Given the description of an element on the screen output the (x, y) to click on. 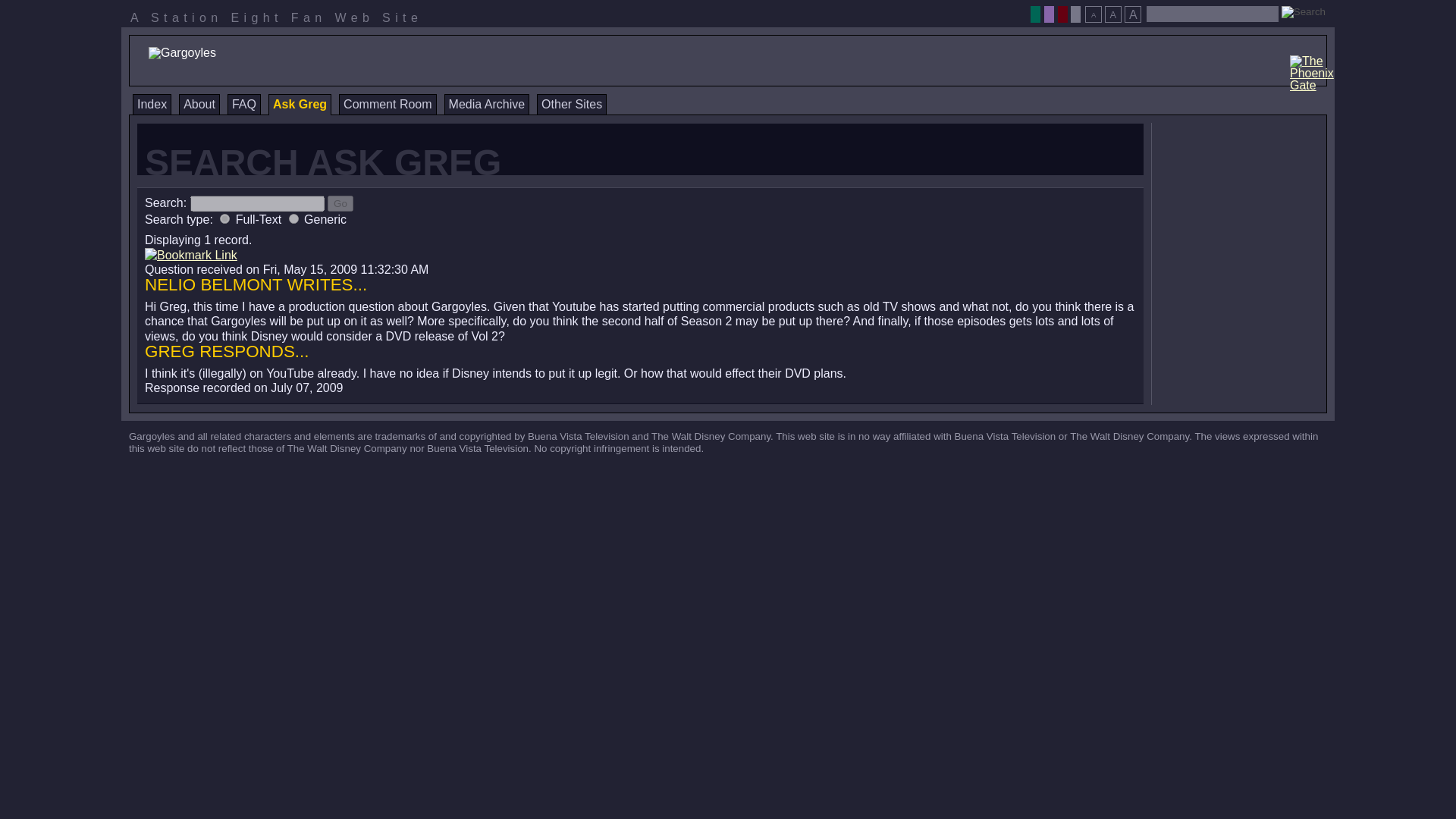
Other Sites (572, 104)
Comment Room (387, 104)
A (1093, 13)
About (199, 104)
FAQ (243, 104)
FullText (224, 218)
Generic (293, 218)
Large Font Size (1132, 13)
A (1113, 13)
Select the font size the best suits your needs. (1112, 9)
Go (340, 203)
Media Archive (486, 104)
Go (340, 203)
Ask Greg (299, 104)
Standard Font Size (1113, 13)
